Given the description of an element on the screen output the (x, y) to click on. 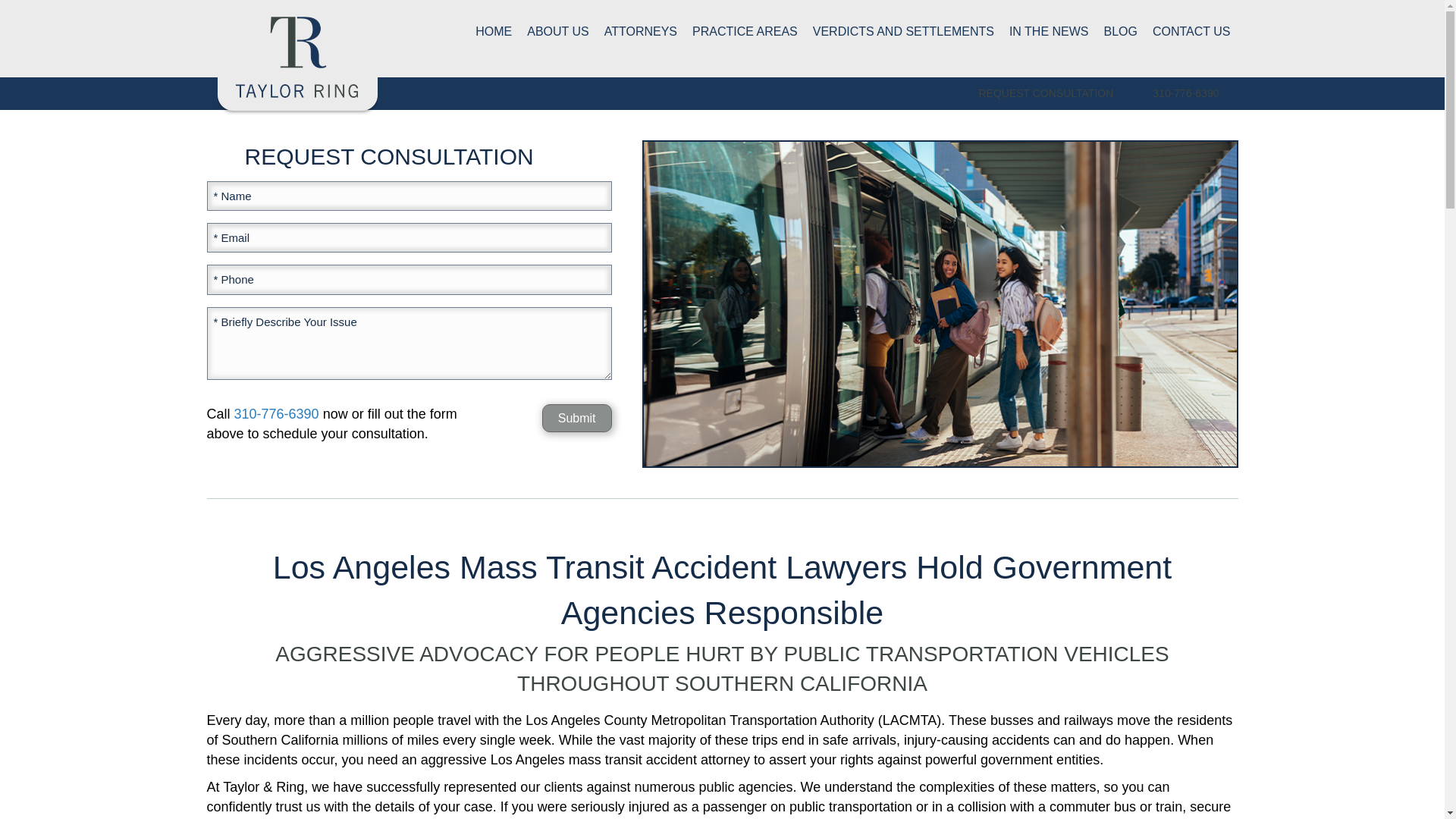
ATTORNEYS (640, 31)
PRACTICE AREAS (744, 31)
ABOUT US (557, 31)
Submit (576, 418)
Taylor Ring - Injury Lawyers (296, 57)
HOME (493, 31)
